Given the description of an element on the screen output the (x, y) to click on. 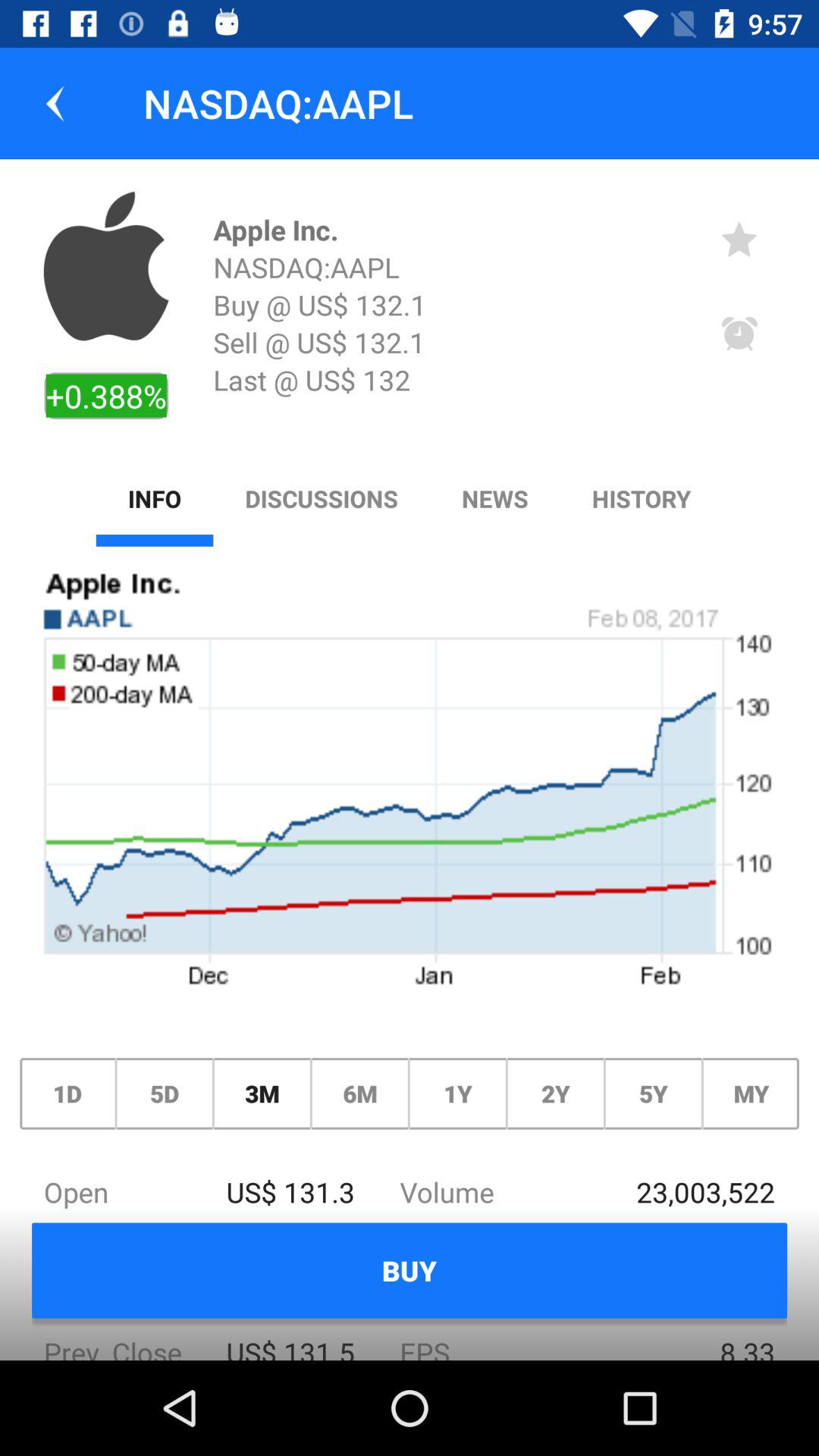
press the icon to the right of apple inc. icon (739, 238)
